Given the description of an element on the screen output the (x, y) to click on. 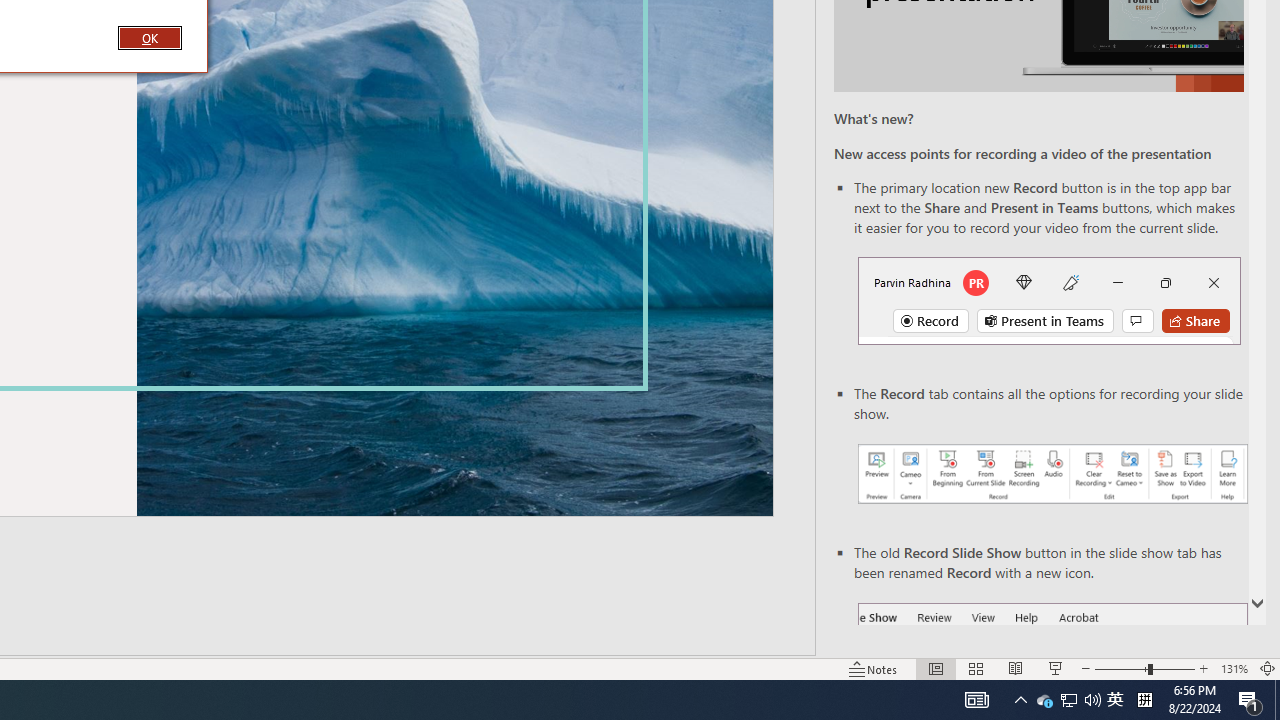
Record button in top bar (1049, 300)
Slide Show (1055, 668)
Zoom Out (1121, 668)
Zoom In (1204, 668)
Zoom (1144, 668)
Reading View (1015, 668)
Tray Input Indicator - Chinese (Simplified, China) (1144, 699)
Zoom to Fit  (1267, 668)
AutomationID: 4105 (976, 699)
Q2790: 100% (1092, 699)
